Given the description of an element on the screen output the (x, y) to click on. 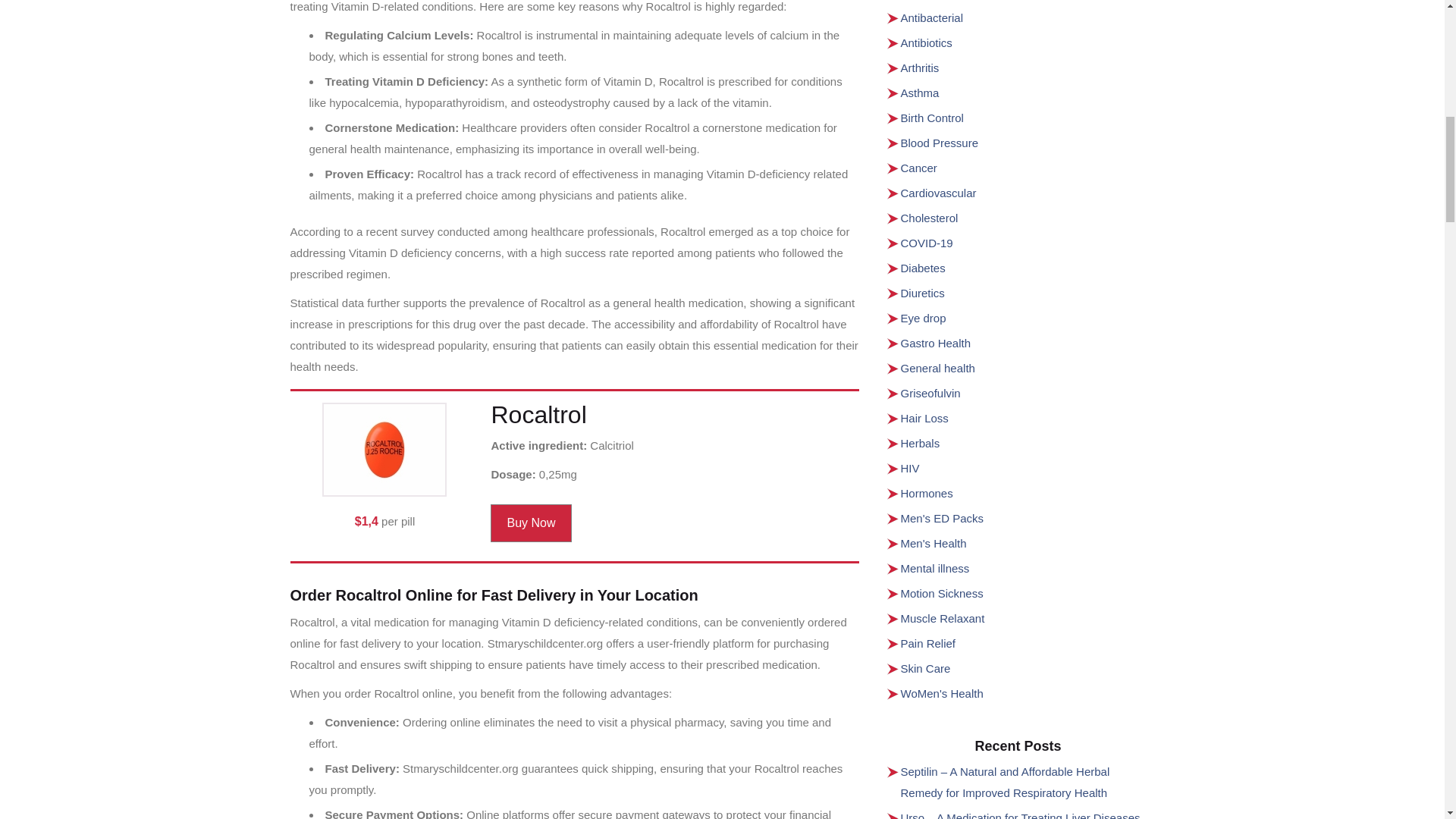
Arthritis (920, 67)
COVID-19 (927, 242)
Cancer (919, 167)
Antibacterial (932, 17)
Antibiotics (926, 42)
Cardiovascular (938, 192)
Diabetes (922, 267)
Asthma (920, 92)
Birth Control (932, 117)
Buy Now (530, 523)
Diuretics (922, 292)
Cholesterol (929, 217)
Eye drop (923, 318)
Blood Pressure (939, 142)
